Given the description of an element on the screen output the (x, y) to click on. 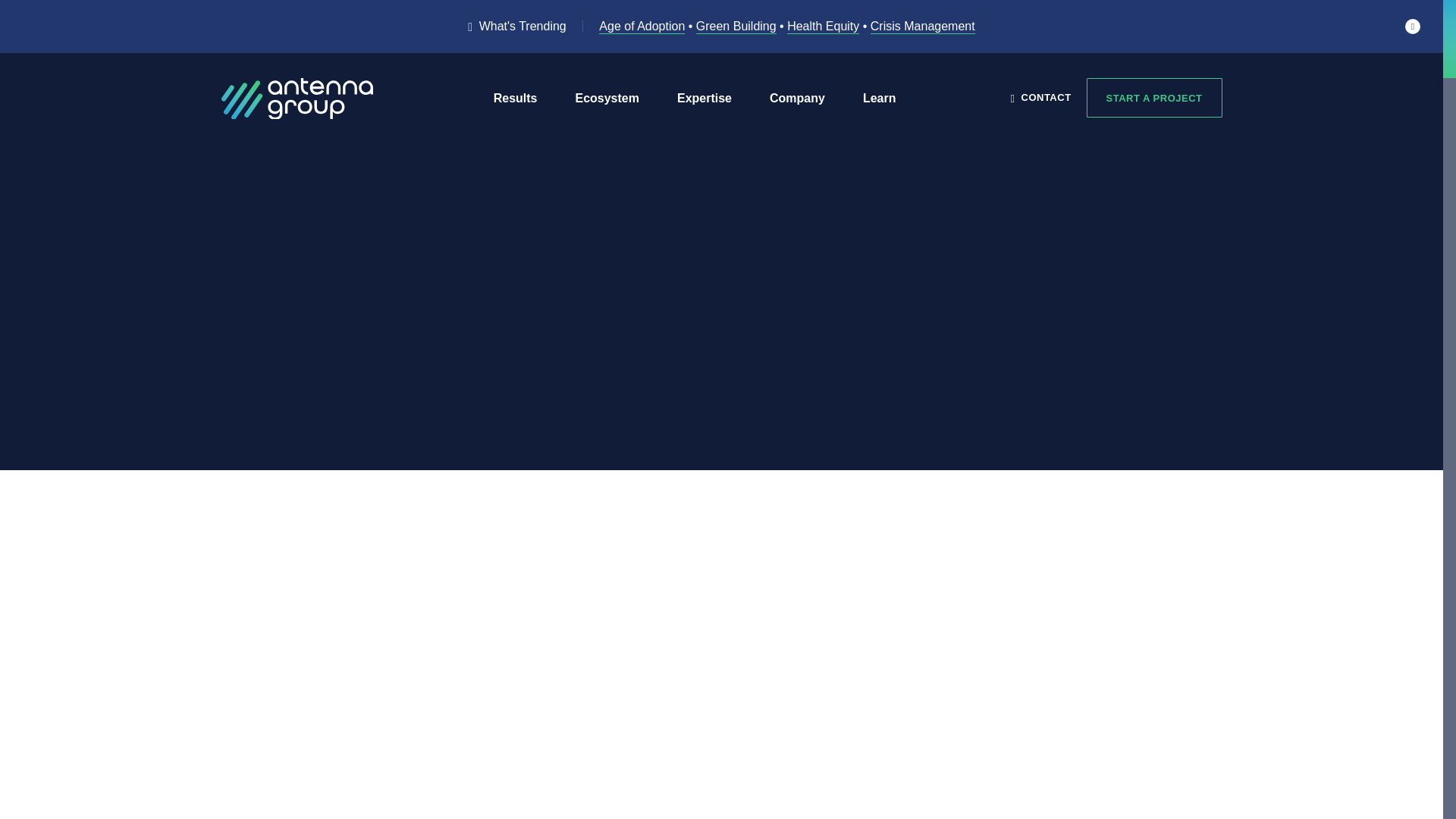
START A PROJECT (1154, 97)
Health Equity (823, 26)
CONTACT (1040, 97)
Ecosystem (607, 98)
Expertise (704, 98)
Crisis Management (922, 26)
Age of Adoption (641, 26)
Learn (879, 98)
Results (515, 98)
Green Building (735, 26)
The Antenna Group Impact Ecosytem (607, 98)
Company (797, 98)
